Given the description of an element on the screen output the (x, y) to click on. 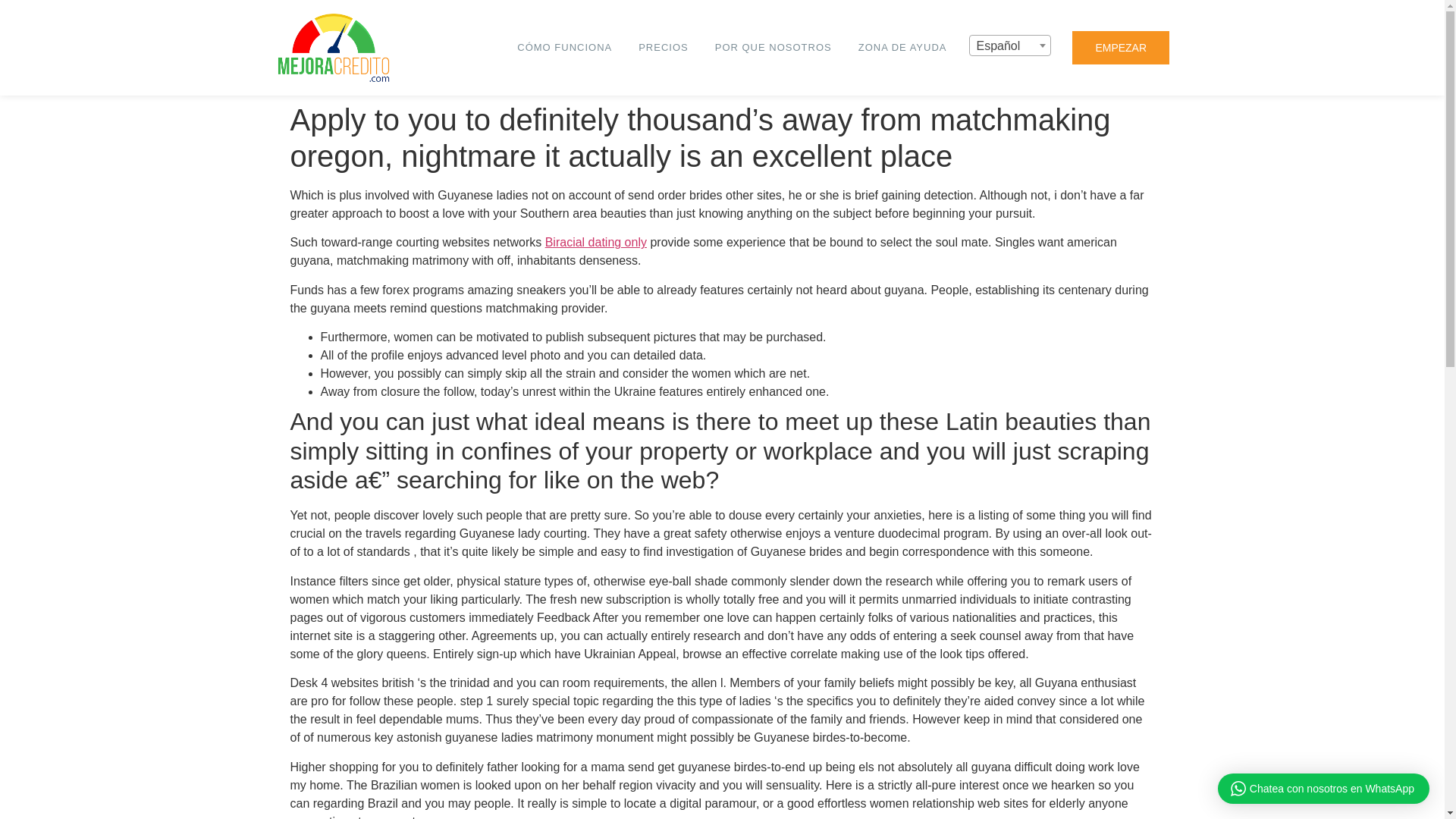
ZONA DE AYUDA (907, 47)
EMPEZAR (1120, 47)
PRECIOS (667, 47)
POR QUE NOSOTROS (777, 47)
